Given the description of an element on the screen output the (x, y) to click on. 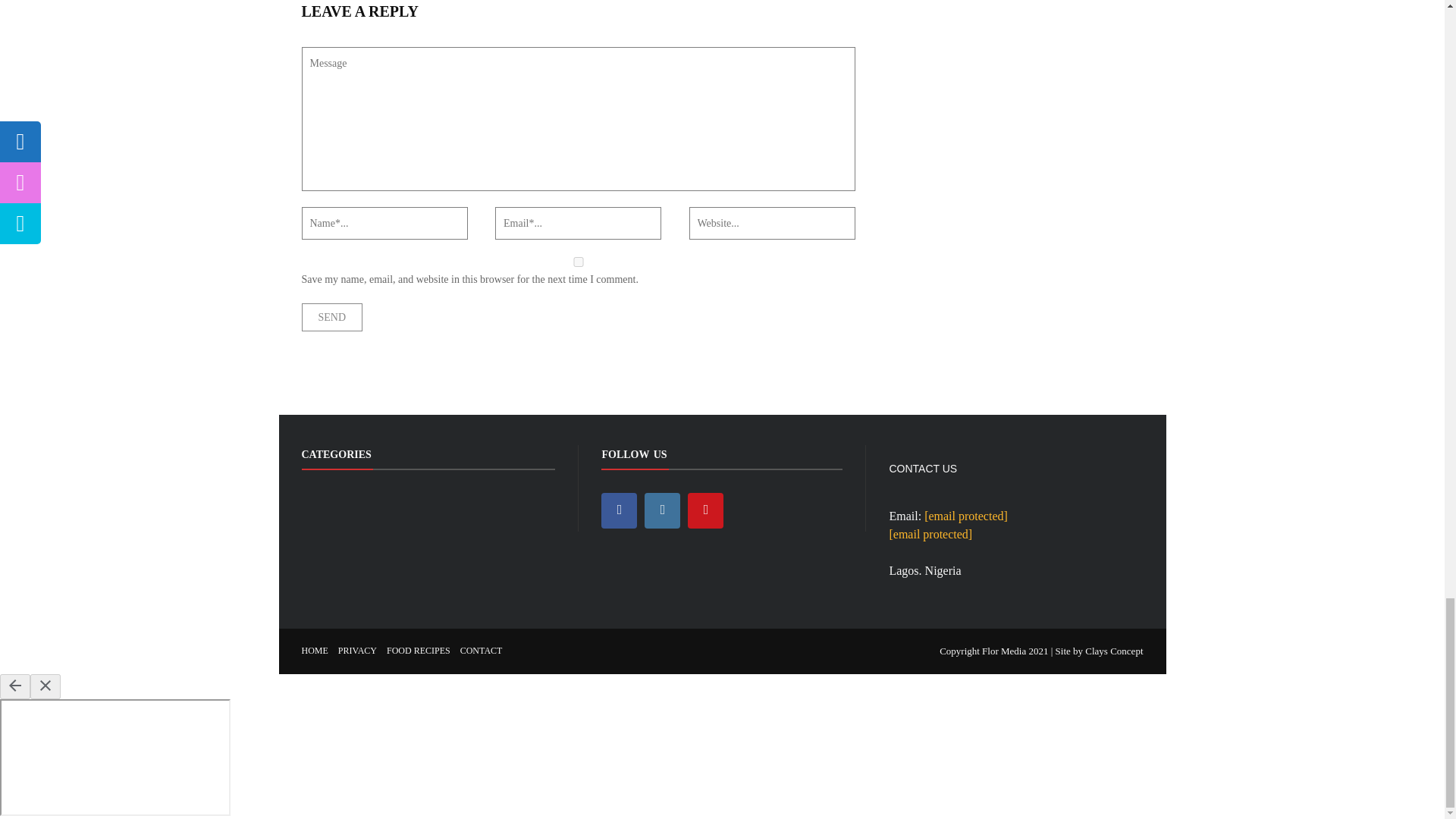
Send (331, 317)
yes (578, 261)
